Given the description of an element on the screen output the (x, y) to click on. 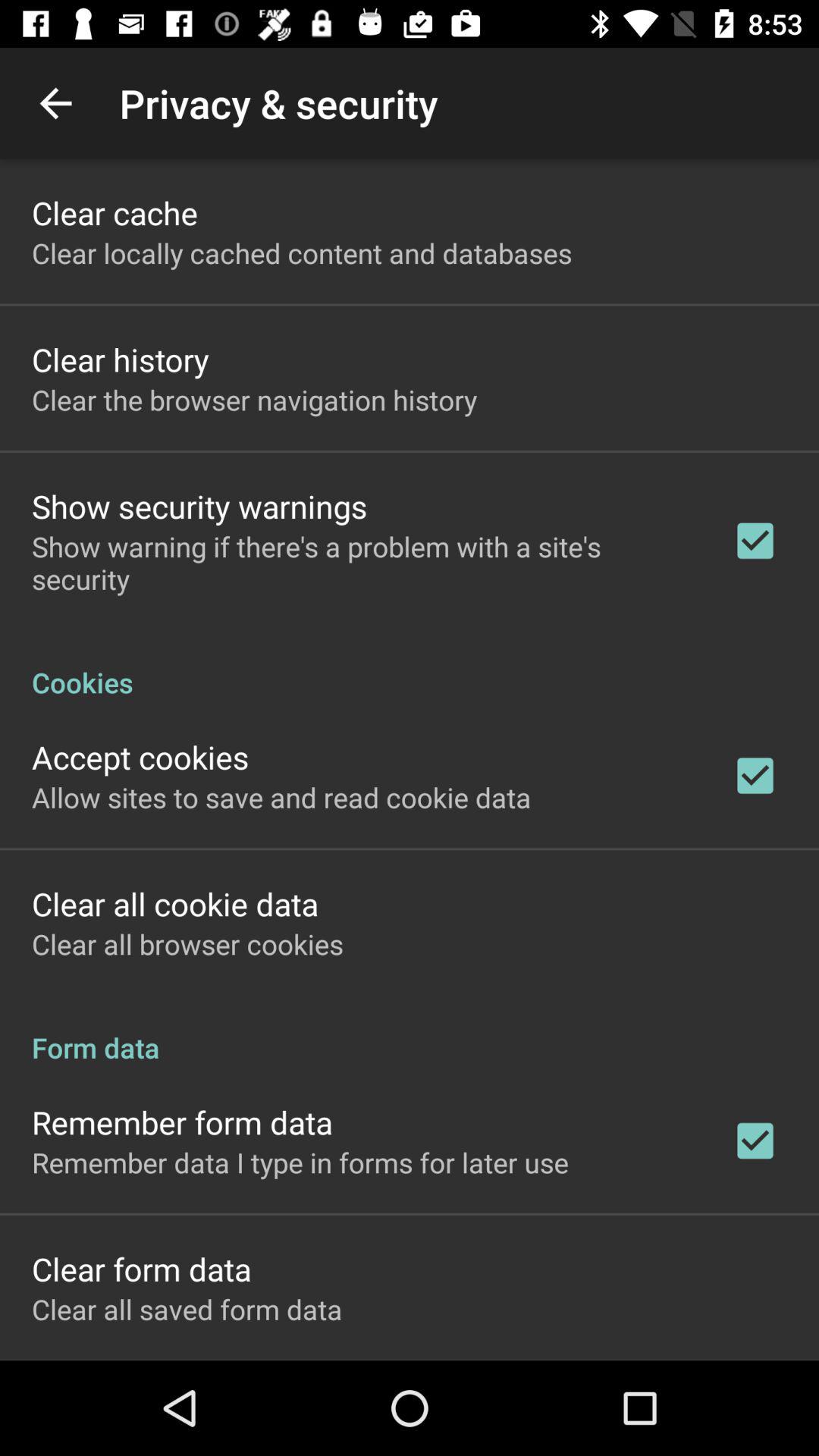
open icon to the left of the privacy & security app (55, 103)
